Given the description of an element on the screen output the (x, y) to click on. 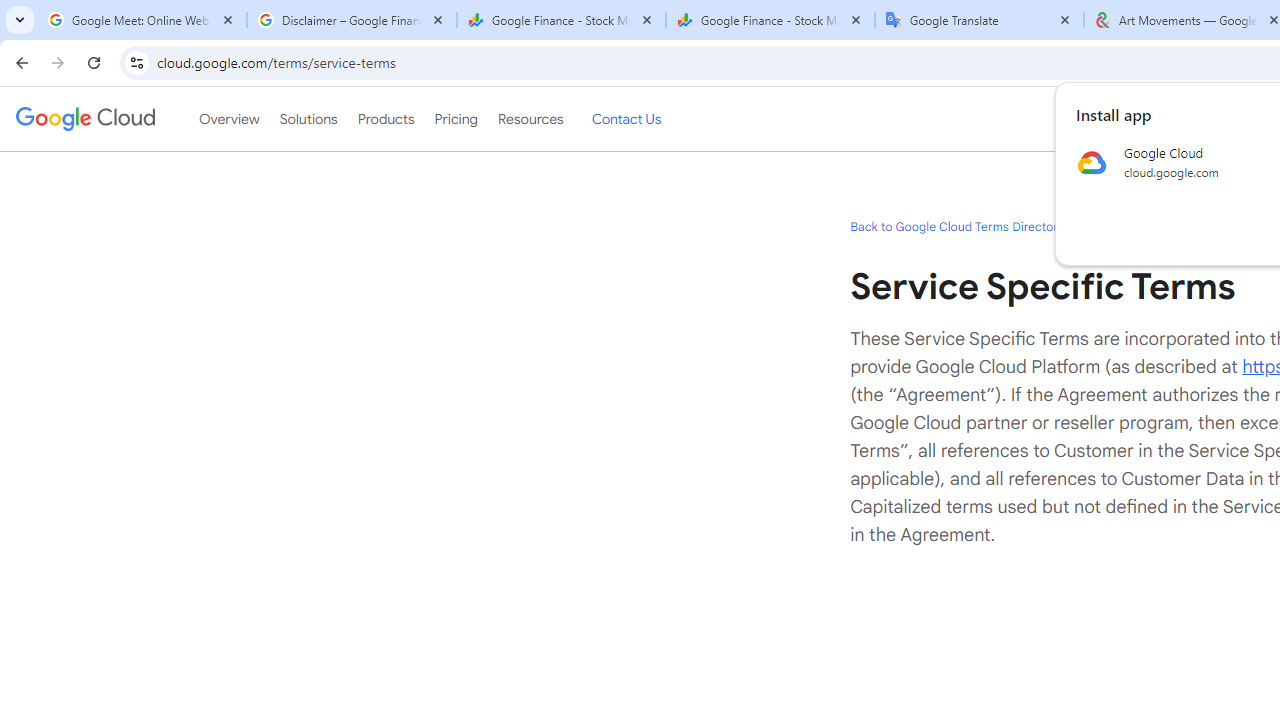
Products (385, 119)
Contact Us (626, 119)
Resources (530, 119)
Google Cloud (84, 118)
Solutions (308, 119)
